Given the description of an element on the screen output the (x, y) to click on. 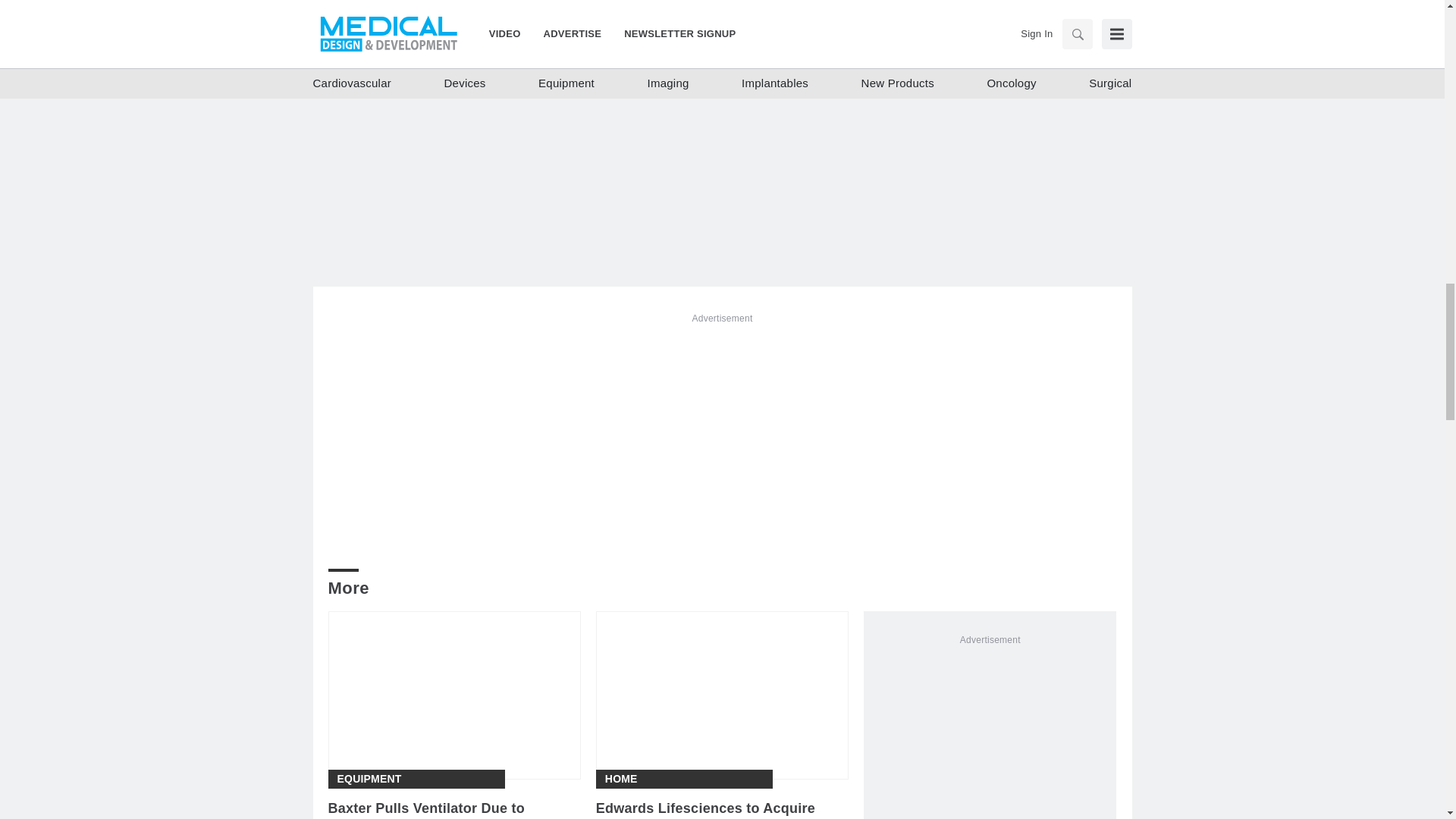
Home (621, 779)
